Given the description of an element on the screen output the (x, y) to click on. 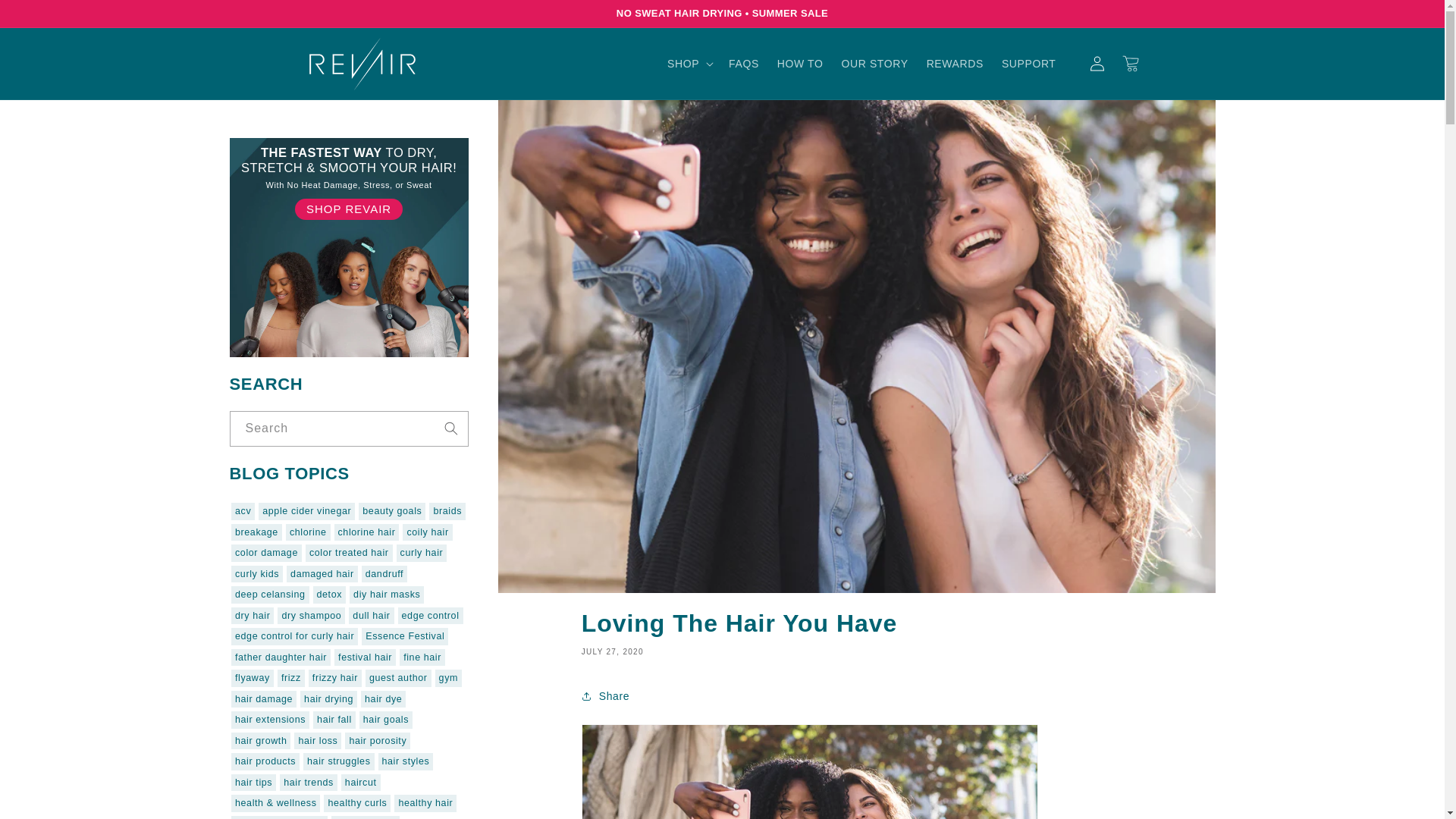
REWARDS (954, 63)
OUR STORY (874, 63)
SKIP TO CONTENT (45, 17)
FAQS (743, 63)
HOW TO (800, 63)
